Given the description of an element on the screen output the (x, y) to click on. 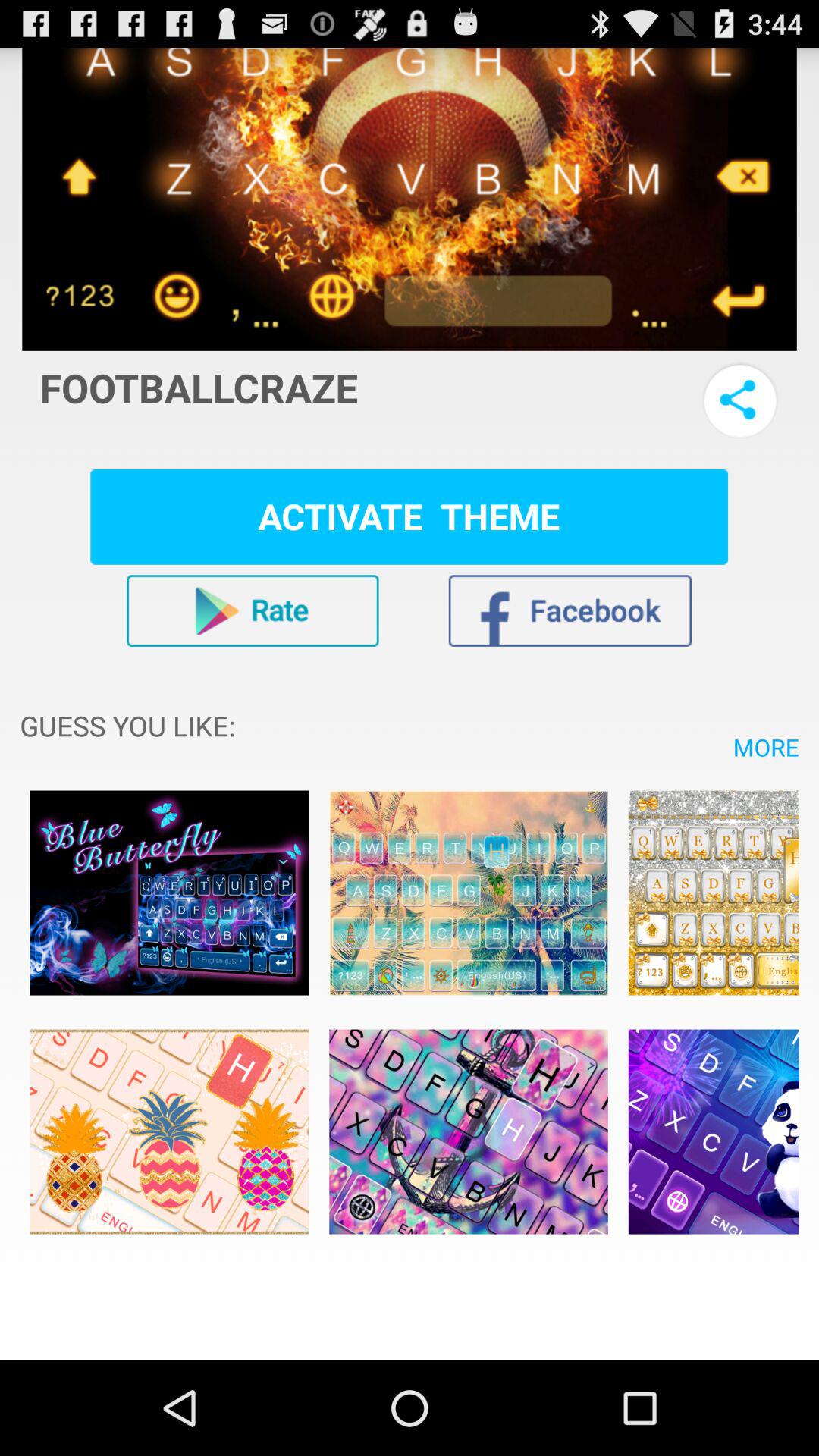
rate app in playstore (252, 610)
